Given the description of an element on the screen output the (x, y) to click on. 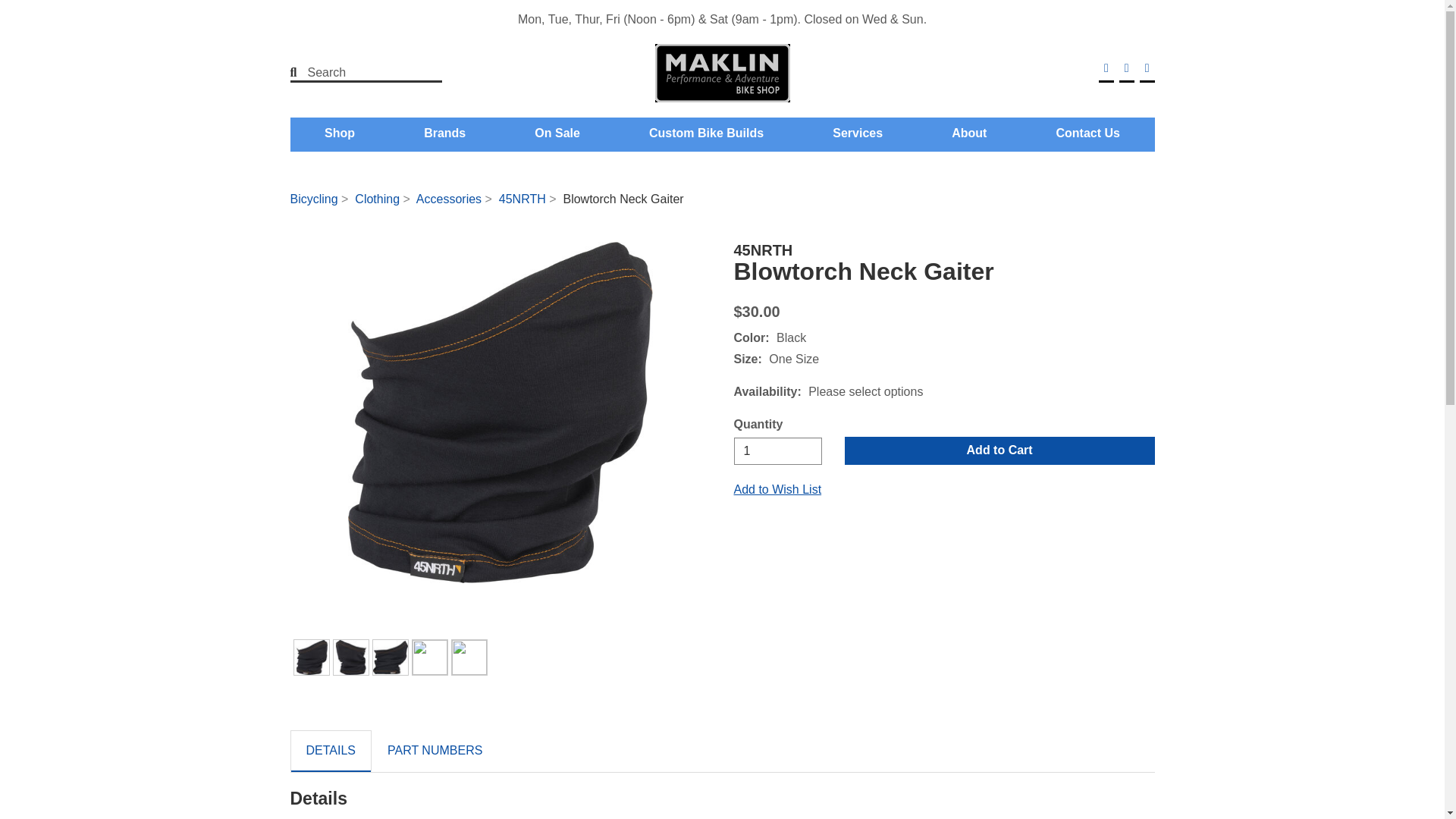
Search (356, 72)
Maklin Bike Shop Home Page (721, 73)
1 (777, 451)
45NRTH Blowtorch Neck Gaiter (499, 412)
Color: Black (311, 656)
Shop (338, 133)
